Given the description of an element on the screen output the (x, y) to click on. 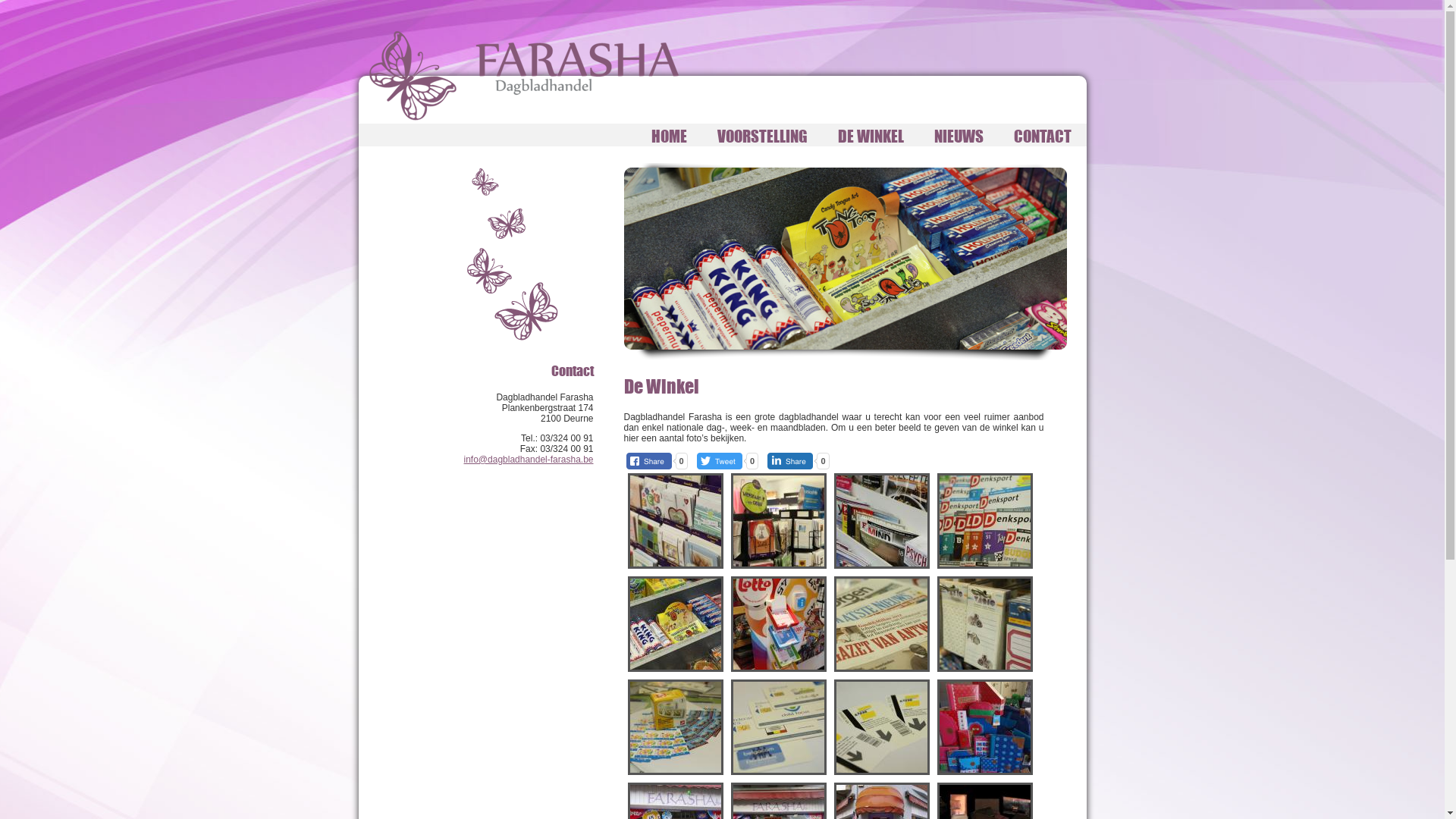
NIEUWS Element type: text (958, 135)
HOME Element type: text (668, 135)
info@dagbladhandel-farasha.be Element type: text (528, 459)
Overslaan en naar de algemene inhoud gaan Element type: text (91, 0)
VOORSTELLING Element type: text (762, 135)
DE WINKEL Element type: text (870, 135)
CONTACT Element type: text (1041, 135)
